Given the description of an element on the screen output the (x, y) to click on. 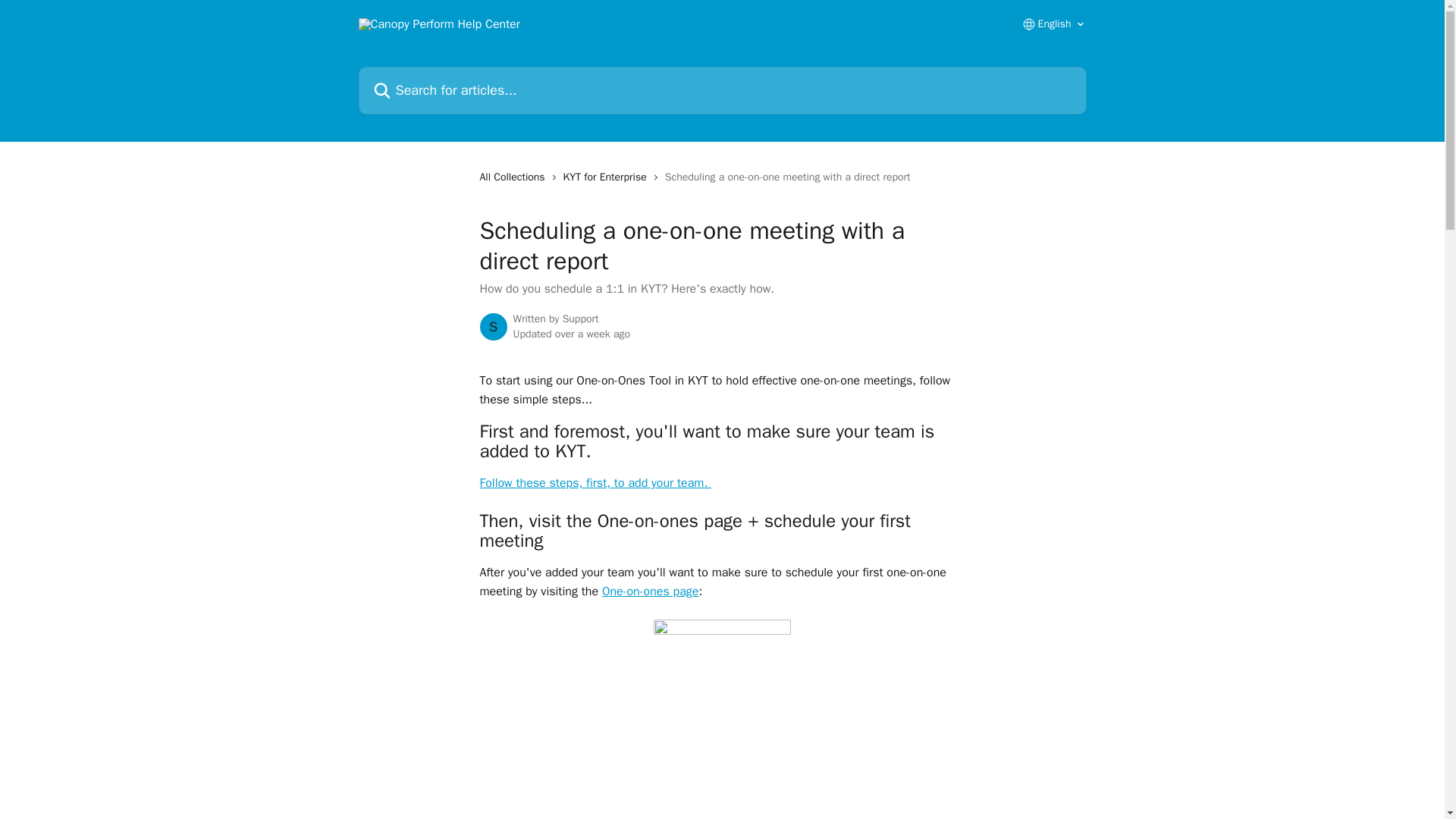
Follow these steps, first, to add your team. (594, 482)
One-on-ones page (650, 590)
All Collections (514, 176)
KYT for Enterprise (607, 176)
